Given the description of an element on the screen output the (x, y) to click on. 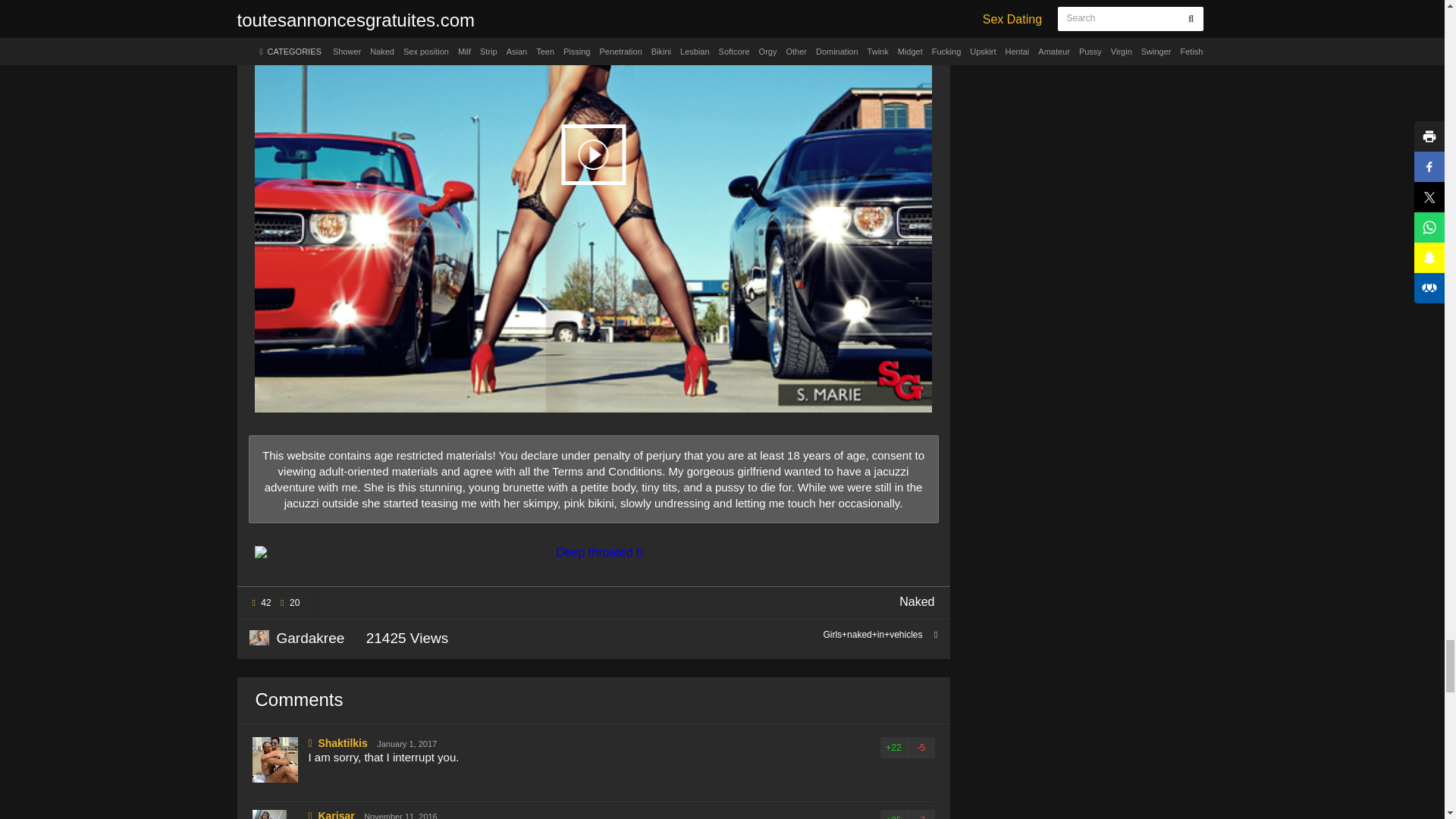
Tunos (295, 638)
Shave his balls (592, 552)
